Given the description of an element on the screen output the (x, y) to click on. 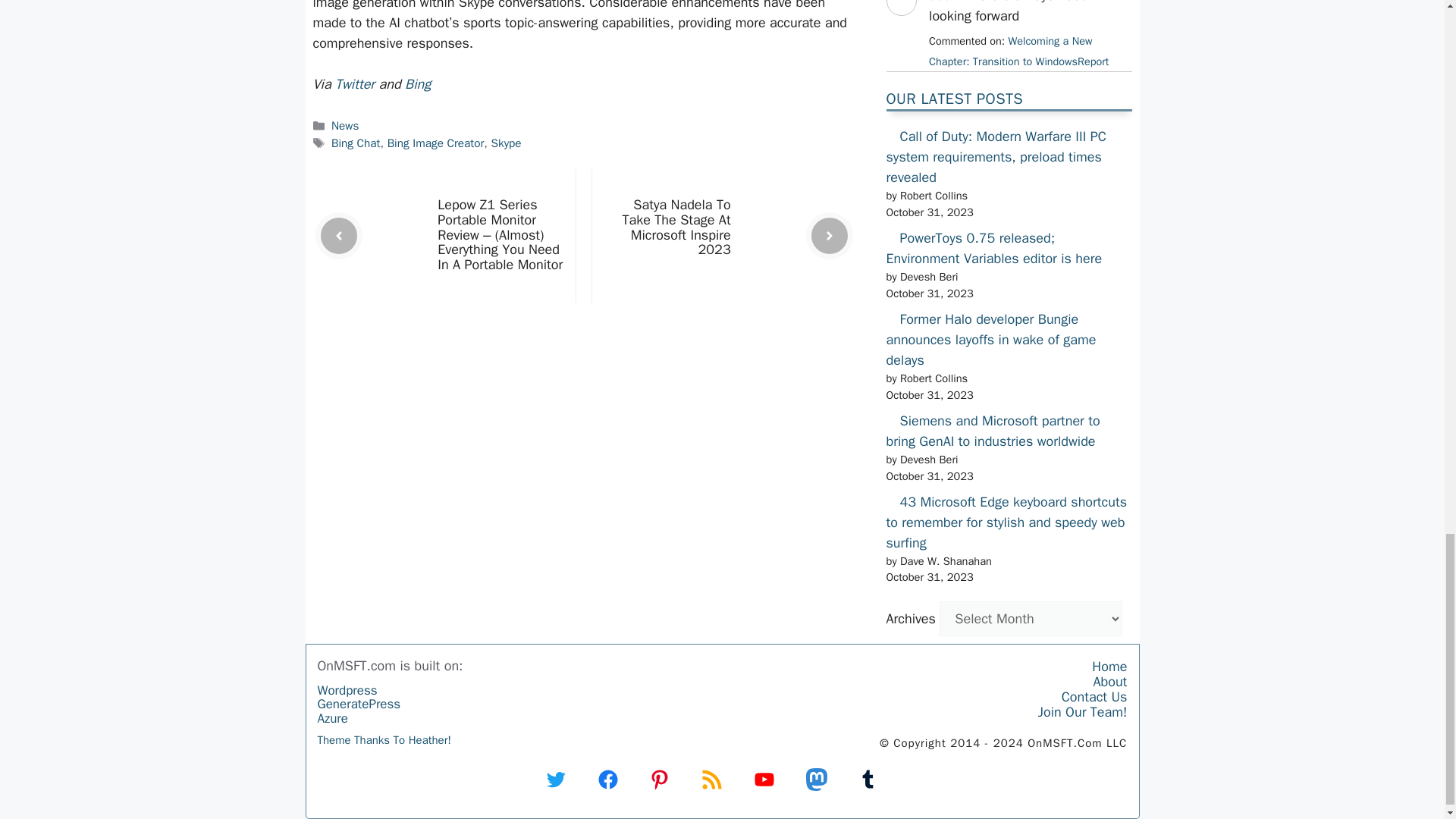
sathvik (900, 29)
May 20, 2024 (1018, 50)
